Given the description of an element on the screen output the (x, y) to click on. 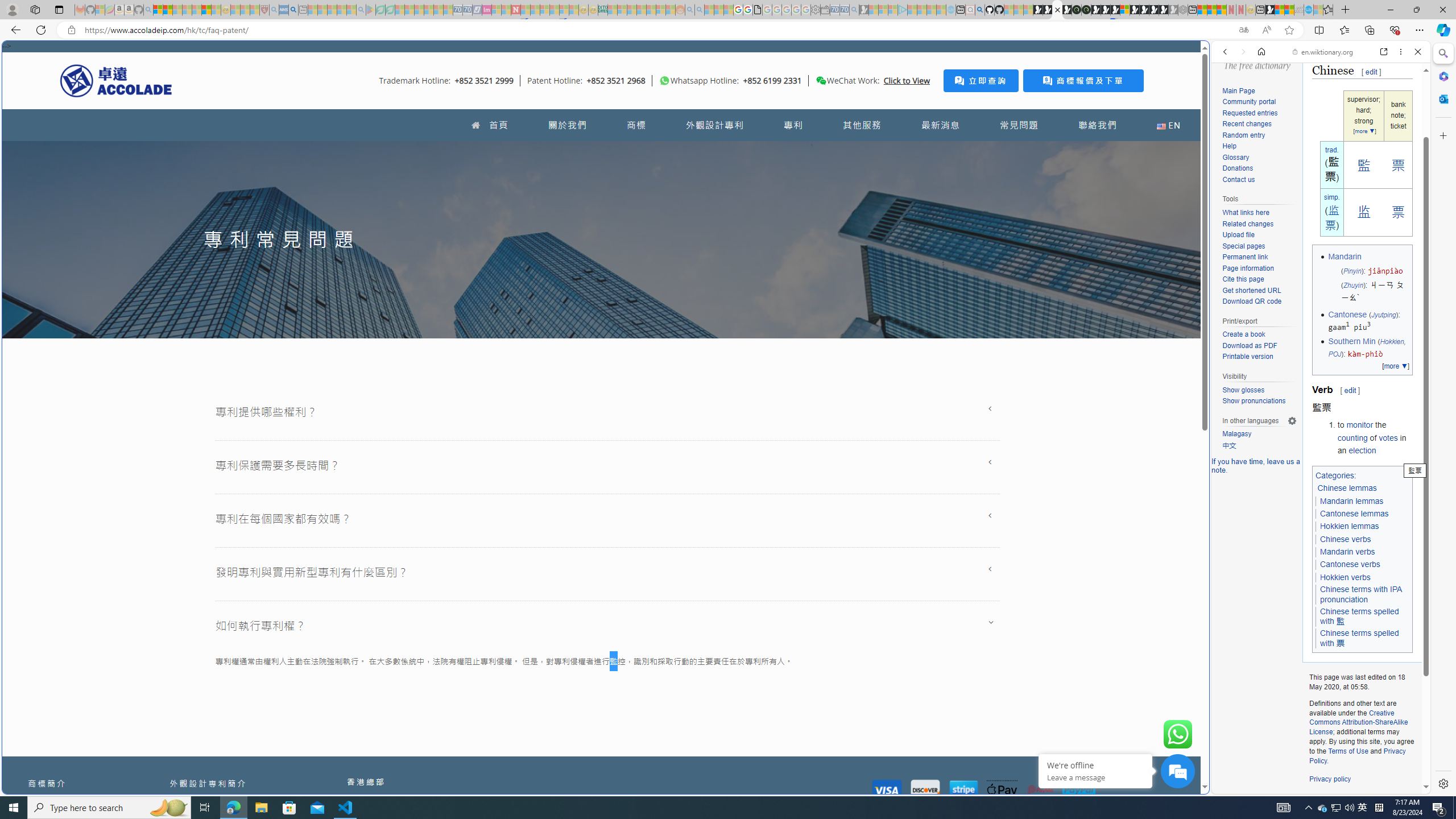
This page was last edited on 18 May 2020, at 05:58. (1361, 682)
Chinese verbs (1345, 538)
Search or enter web address (922, 108)
Main Page (1259, 91)
